Given the description of an element on the screen output the (x, y) to click on. 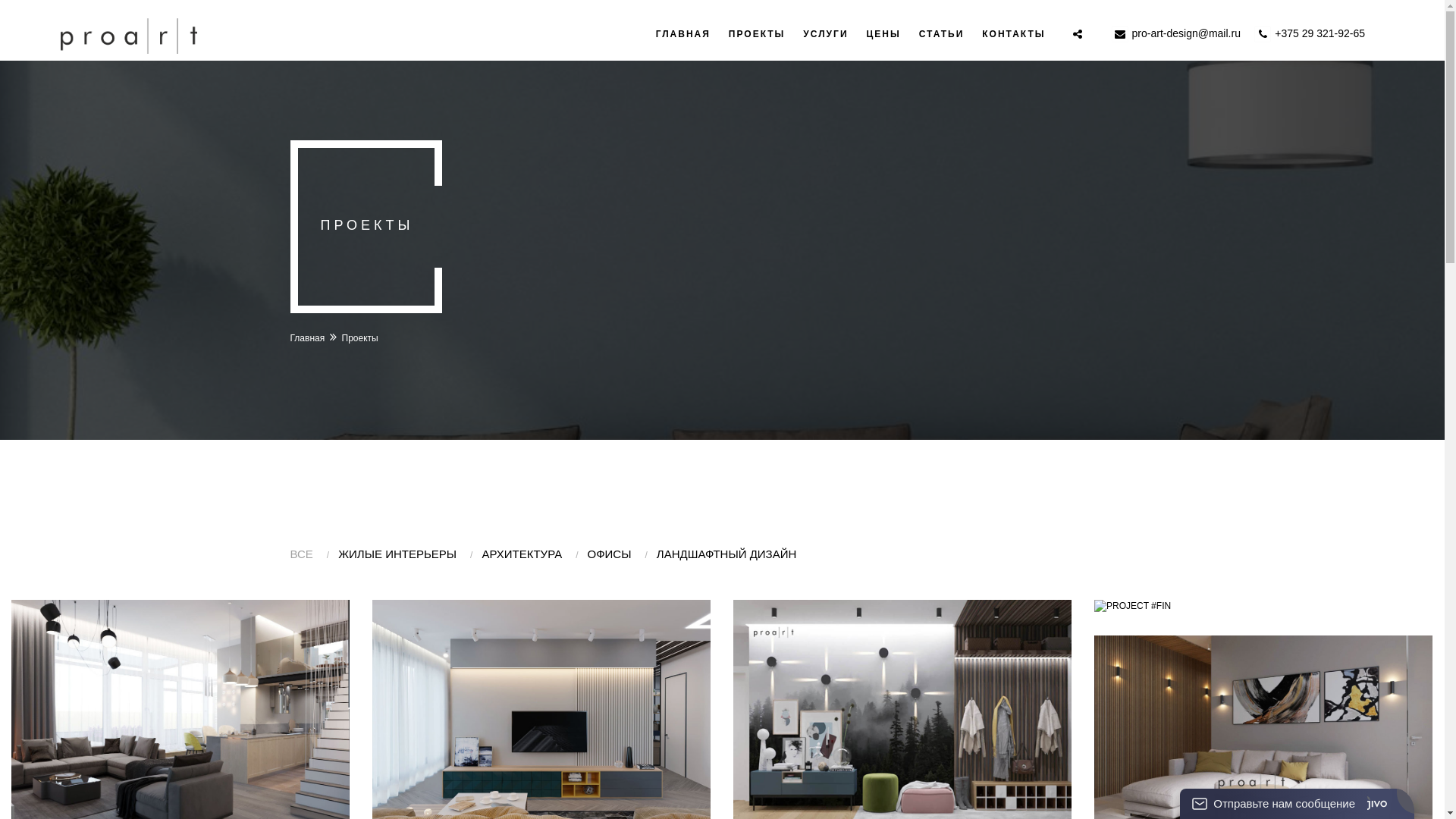
pro-art-design@mail.ru Element type: text (1186, 33)
+375 29 321-92-65 Element type: text (1319, 33)
